Given the description of an element on the screen output the (x, y) to click on. 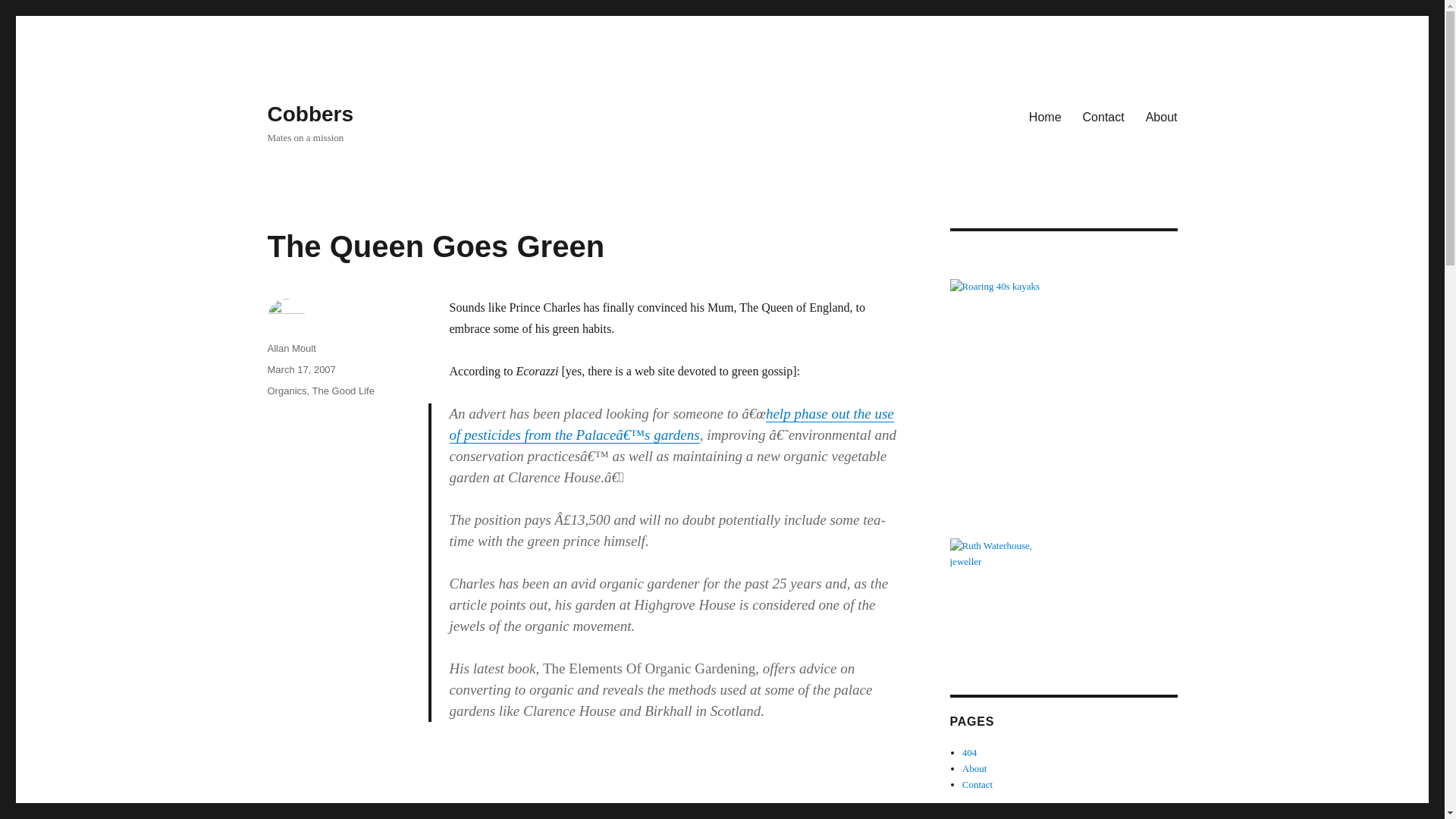
Home (1044, 116)
About (974, 767)
Contact (977, 784)
The Good Life (343, 390)
Contact (1103, 116)
March 17, 2007 (300, 369)
Allan Moult (290, 348)
Cobbers (309, 114)
404 (969, 752)
Organics (285, 390)
About (1161, 116)
